Given the description of an element on the screen output the (x, y) to click on. 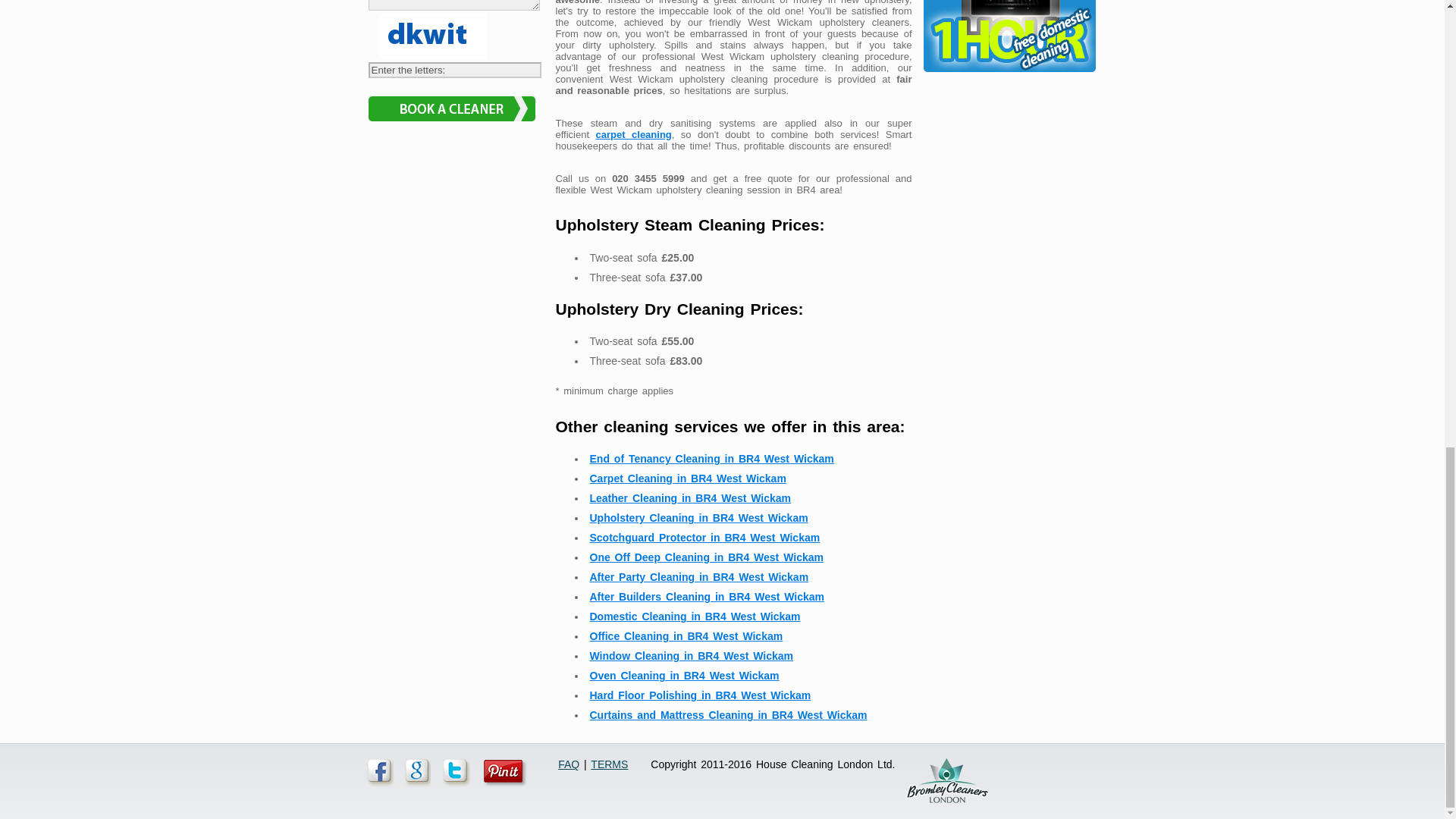
Window Cleaning in BR4 West Wickam (691, 655)
Domestic Cleaning in BR4 West Wickam (694, 616)
Oven Cleaning in BR4 West Wickam (683, 675)
Office Cleaning in BR4 West Wickam (686, 635)
Leather Cleaning in BR4 West Wickam (690, 498)
After Party Cleaning in BR4 West Wickam (699, 576)
Enter the letters: (454, 69)
carpet cleaning (633, 134)
Scotchguard Protector in BR4 West Wickam (705, 537)
Carpet Cleaning in BR4 West Wickam (687, 478)
